Given the description of an element on the screen output the (x, y) to click on. 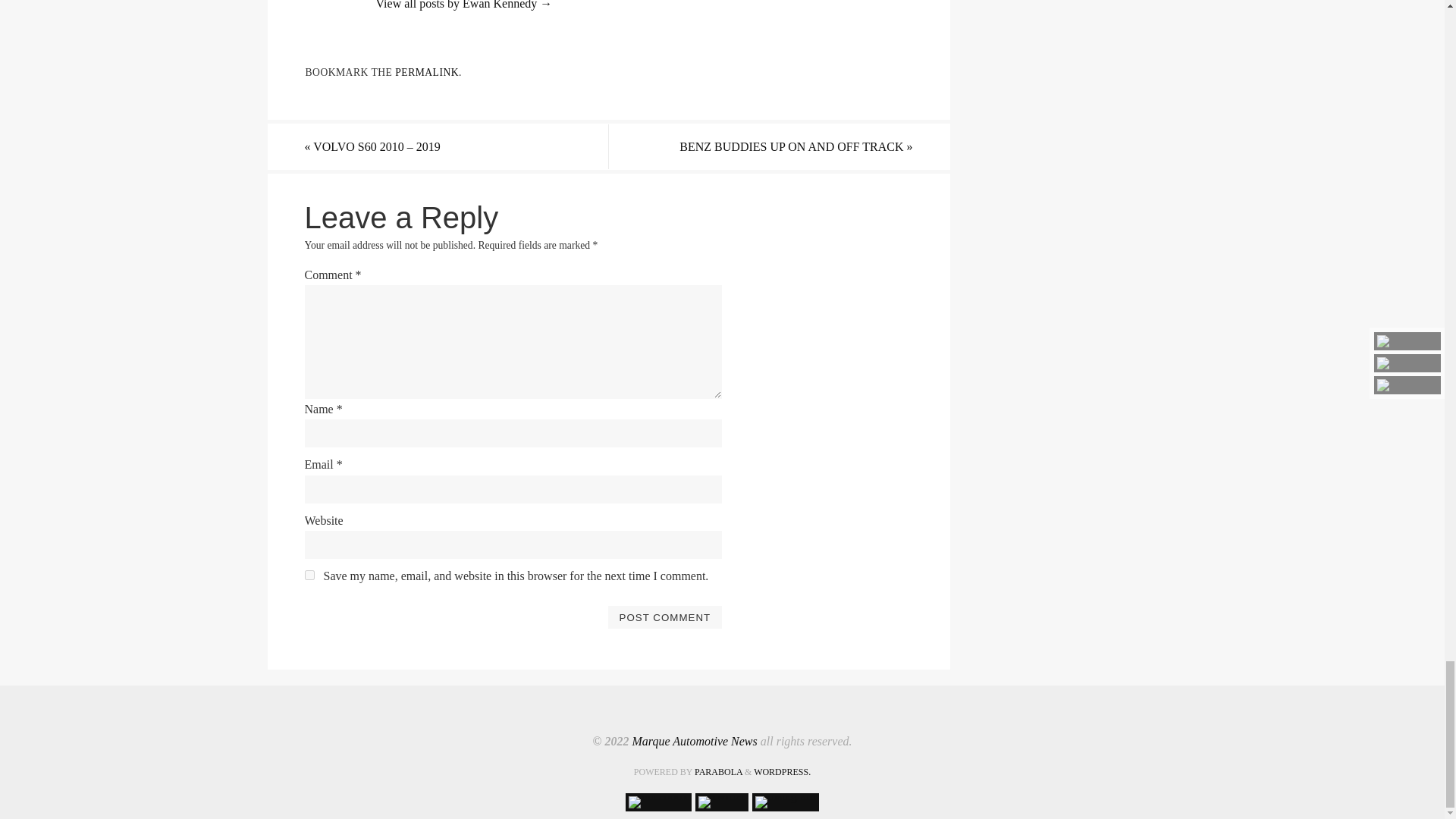
Post Comment (664, 617)
Semantic Personal Publishing Platform (782, 771)
Twitter (721, 802)
Instagram (785, 802)
Facebook (658, 802)
Parabola Theme by Cryout Creations (718, 771)
PERMALINK (426, 71)
yes (309, 574)
Post Comment (664, 617)
Permalink to 2021 KIA STINGER GT-LINE (426, 71)
